Given the description of an element on the screen output the (x, y) to click on. 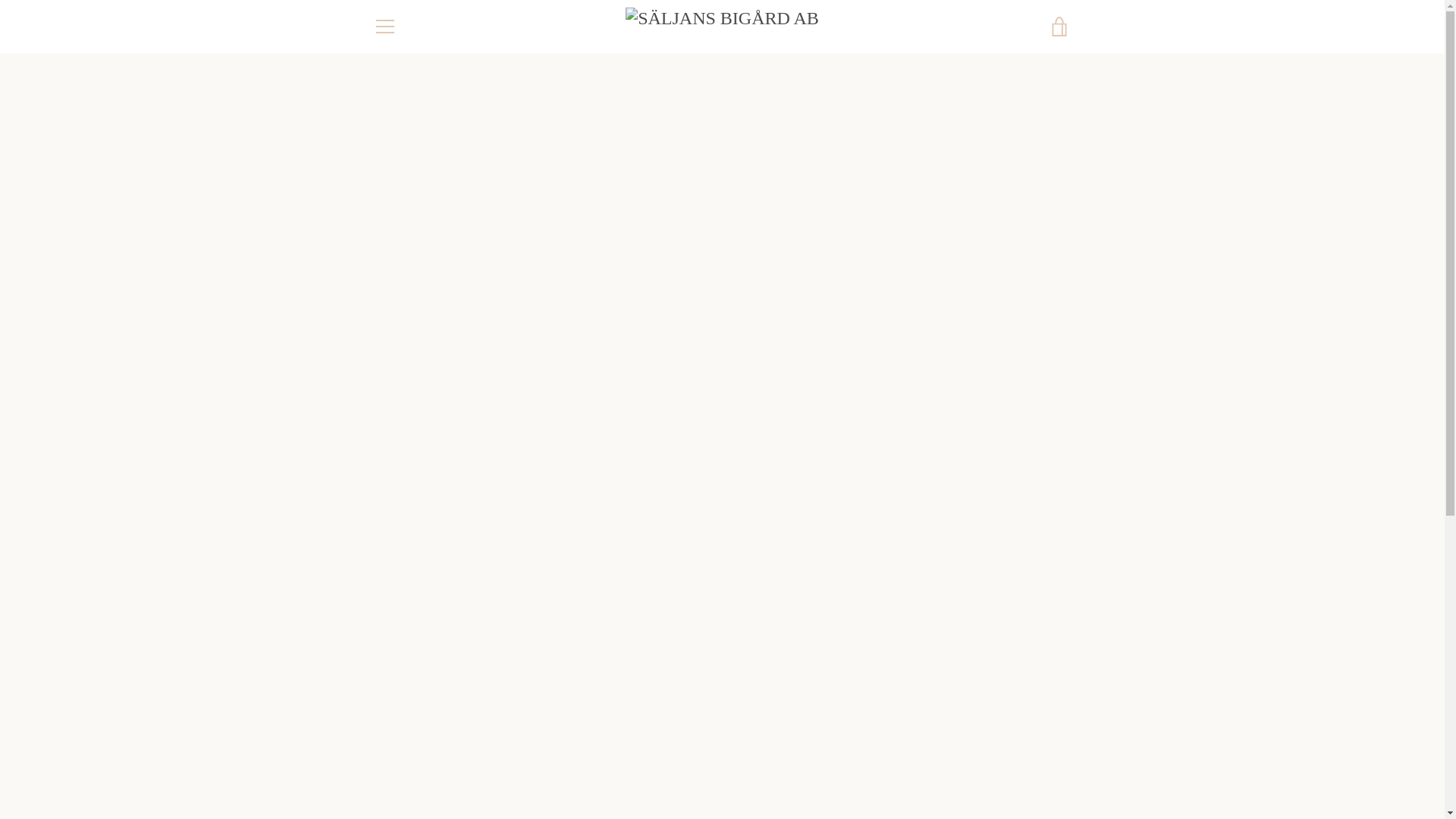
VIEW CART (1059, 26)
MENU (384, 26)
